Given the description of an element on the screen output the (x, y) to click on. 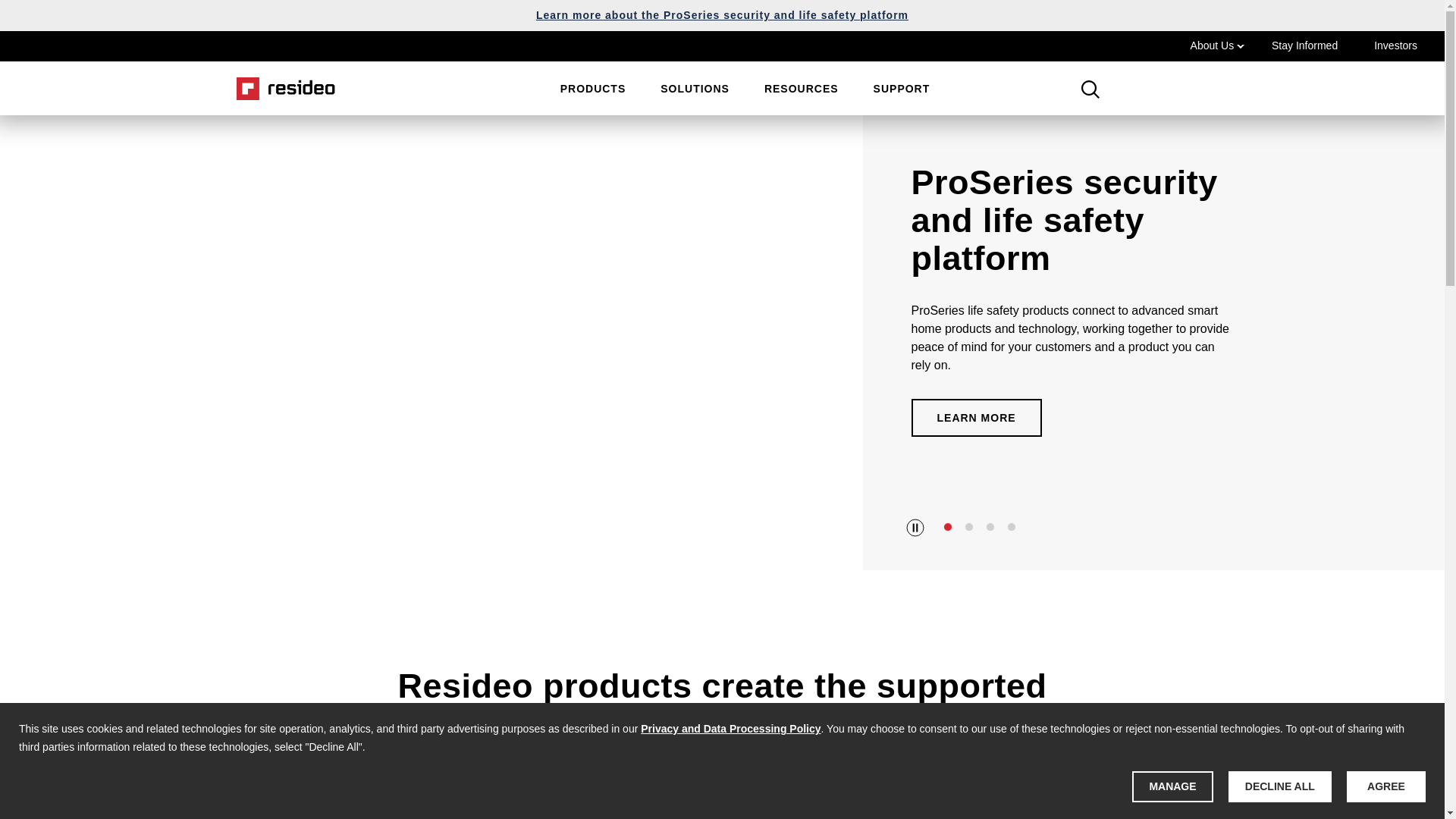
PRODUCTS (592, 88)
About Us (1217, 46)
Investors (1395, 46)
Stay Informed (1304, 46)
Home (280, 88)
